Given the description of an element on the screen output the (x, y) to click on. 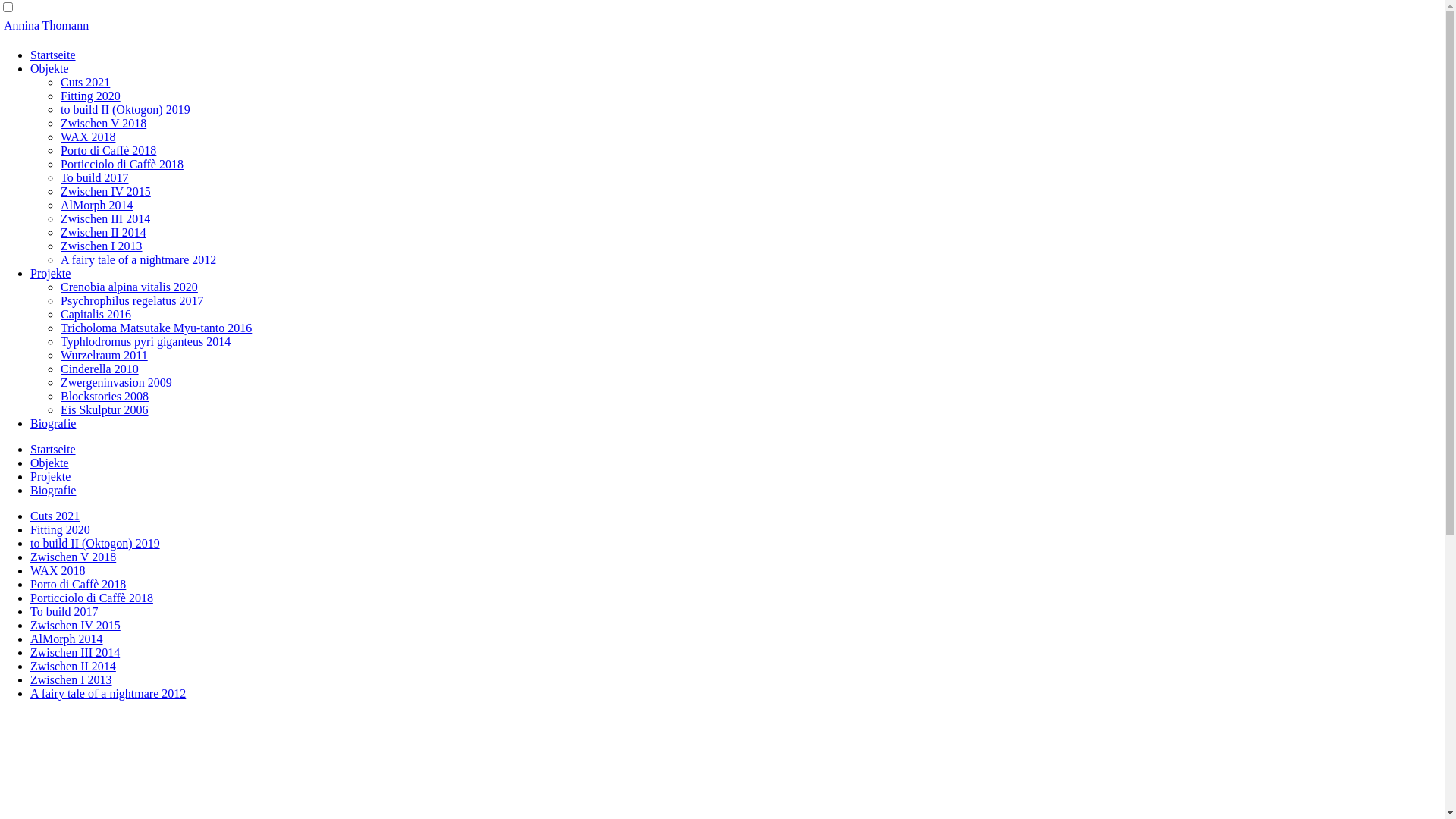
to build II (Oktogon) 2019 Element type: text (95, 542)
Zwischen V 2018 Element type: text (73, 556)
Fitting 2020 Element type: text (90, 95)
Projekte Element type: text (50, 476)
Cuts 2021 Element type: text (54, 515)
Annina Thomann Element type: text (45, 24)
To build 2017 Element type: text (64, 611)
Psychrophilus regelatus 2017 Element type: text (131, 300)
Cuts 2021 Element type: text (84, 81)
Wurzelraum 2011 Element type: text (103, 354)
To build 2017 Element type: text (94, 177)
WAX 2018 Element type: text (57, 570)
A fairy tale of a nightmare 2012 Element type: text (107, 693)
Typhlodromus pyri giganteus 2014 Element type: text (145, 341)
Zwischen II 2014 Element type: text (73, 665)
Eis Skulptur 2006 Element type: text (104, 409)
Objekte Element type: text (49, 68)
Zwischen V 2018 Element type: text (103, 122)
Zwischen IV 2015 Element type: text (105, 191)
Crenobia alpina vitalis 2020 Element type: text (128, 286)
Blockstories 2008 Element type: text (104, 395)
Capitalis 2016 Element type: text (95, 313)
Zwergeninvasion 2009 Element type: text (116, 382)
A fairy tale of a nightmare 2012 Element type: text (138, 259)
Biografie Element type: text (52, 423)
AlMorph 2014 Element type: text (66, 638)
Zwischen II 2014 Element type: text (103, 231)
Zwischen III 2014 Element type: text (74, 652)
Zwischen III 2014 Element type: text (105, 218)
Objekte Element type: text (49, 462)
Tricholoma Matsutake Myu-tanto 2016 Element type: text (155, 327)
Biografie Element type: text (52, 489)
Startseite Element type: text (52, 54)
Zwischen I 2013 Element type: text (101, 245)
Projekte Element type: text (50, 272)
Zwischen IV 2015 Element type: text (75, 624)
Fitting 2020 Element type: text (60, 529)
WAX 2018 Element type: text (87, 136)
Zwischen I 2013 Element type: text (71, 679)
to build II (Oktogon) 2019 Element type: text (125, 109)
AlMorph 2014 Element type: text (96, 204)
Cinderella 2010 Element type: text (99, 368)
Startseite Element type: text (52, 448)
